Given the description of an element on the screen output the (x, y) to click on. 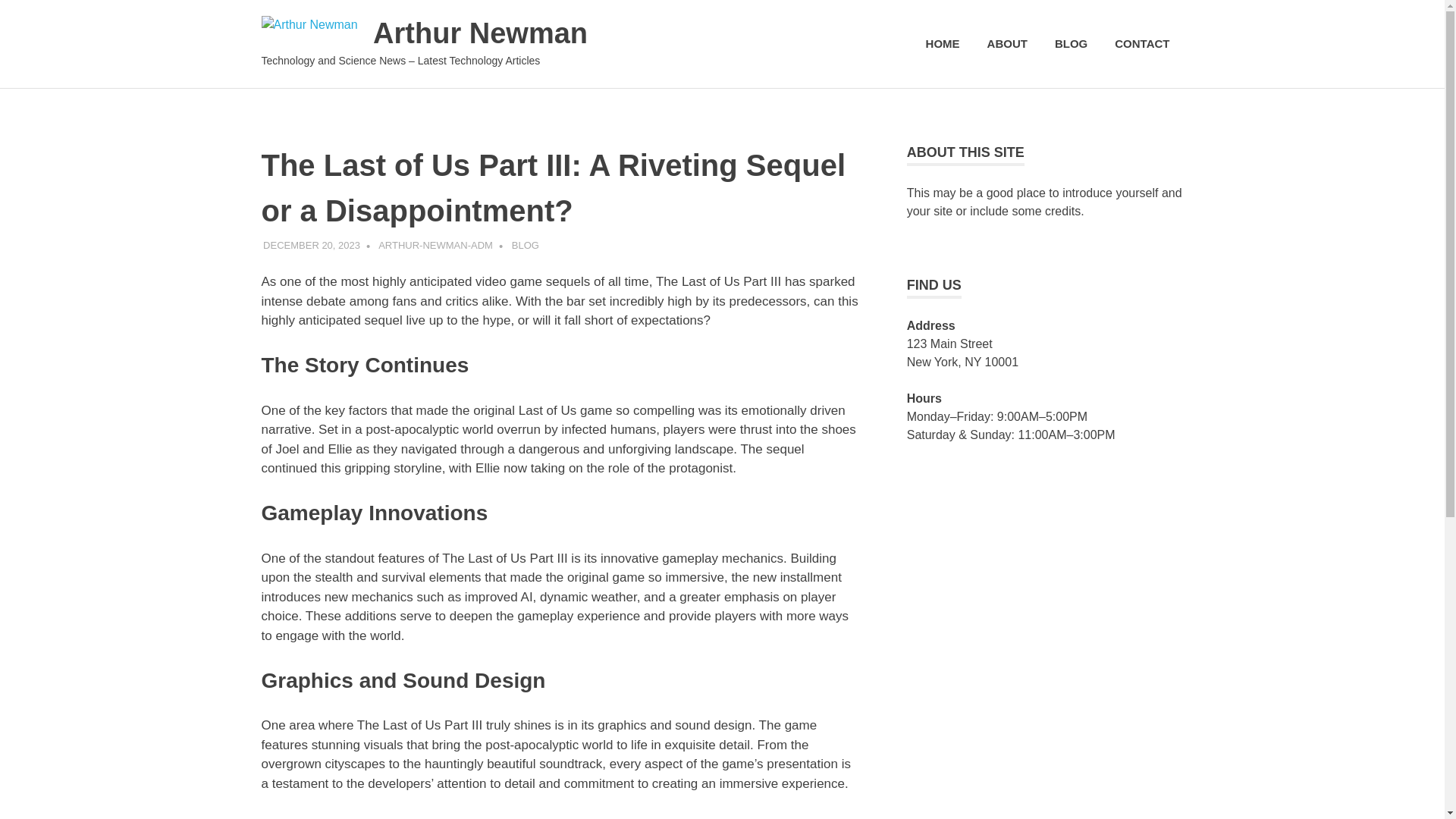
BLOG (1070, 44)
ARTHUR-NEWMAN-ADM (435, 244)
HOME (943, 44)
Arthur Newman (480, 33)
4:08 am (311, 244)
CONTACT (1141, 44)
ABOUT (1007, 44)
BLOG (525, 244)
DECEMBER 20, 2023 (311, 244)
View all posts by arthur-newman-adm (435, 244)
